Given the description of an element on the screen output the (x, y) to click on. 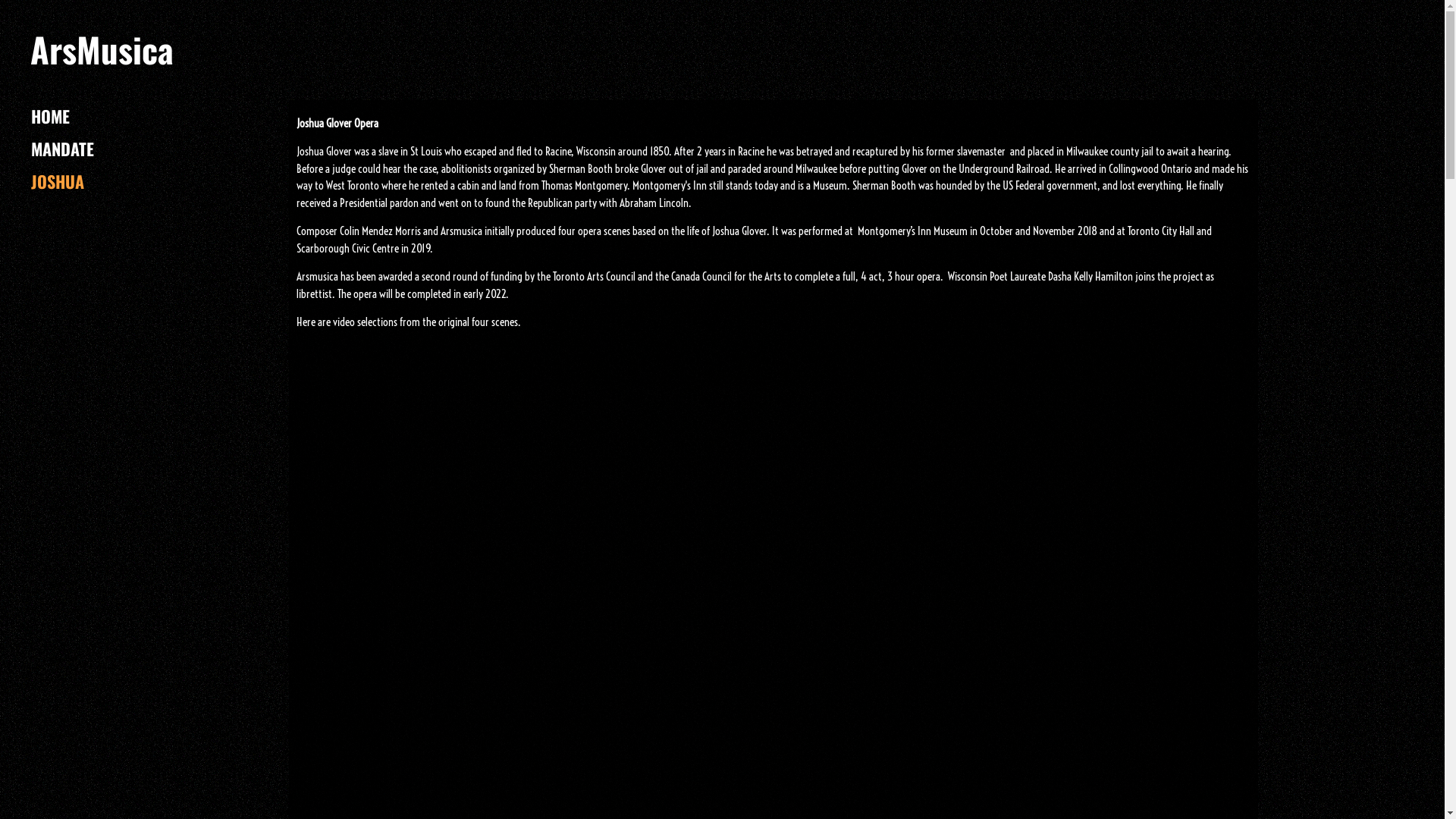
HOME Element type: text (49, 115)
MANDATE Element type: text (62, 148)
JOSHUA Element type: text (57, 181)
ArsMusica Element type: text (101, 57)
